Given the description of an element on the screen output the (x, y) to click on. 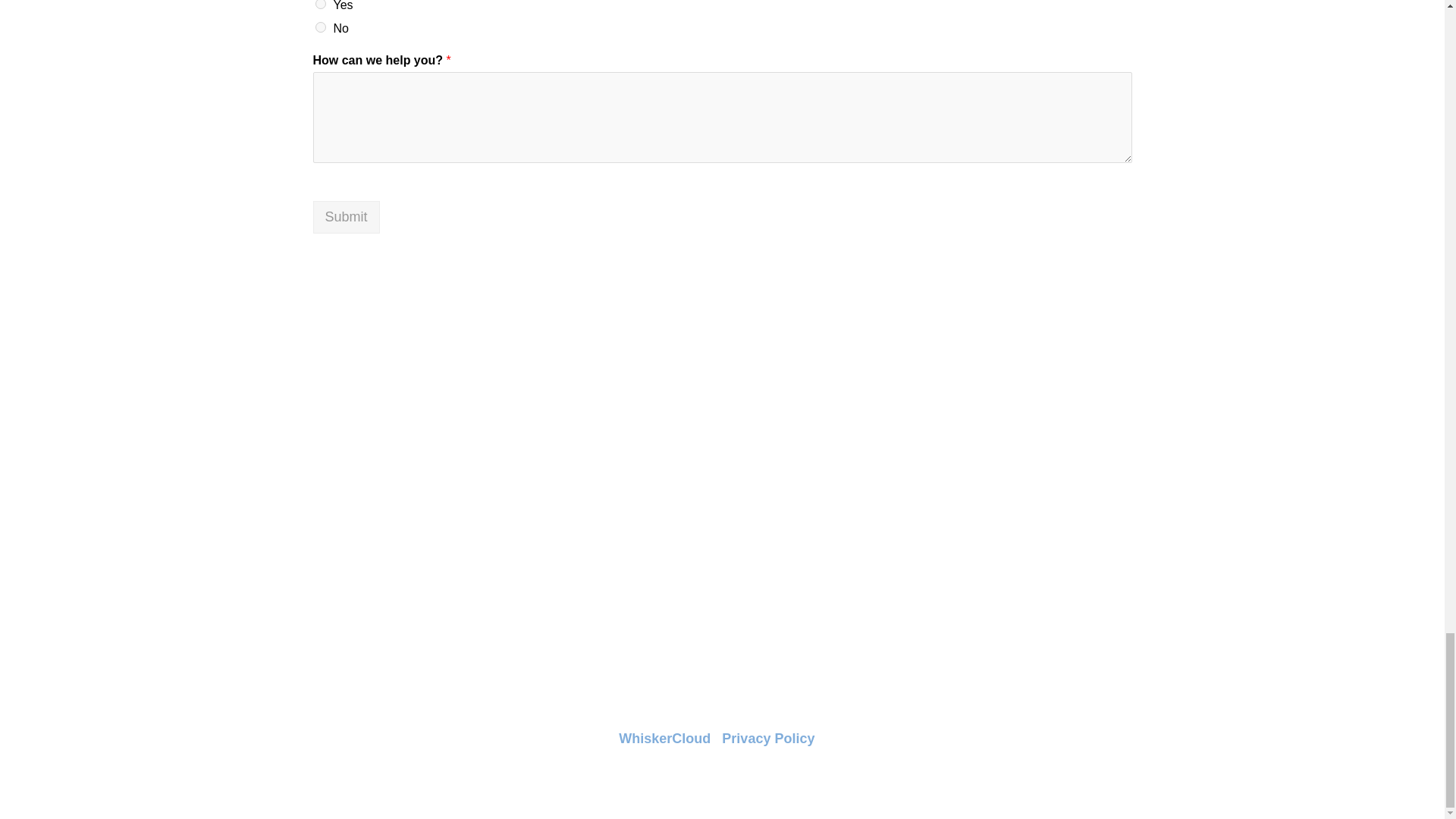
No (320, 27)
Privacy Policy (767, 738)
WhiskerCloud (664, 738)
Follow on Facebook (1118, 739)
BOOK APPOINTMENT (721, 585)
Yes (320, 4)
Submit (345, 216)
